Given the description of an element on the screen output the (x, y) to click on. 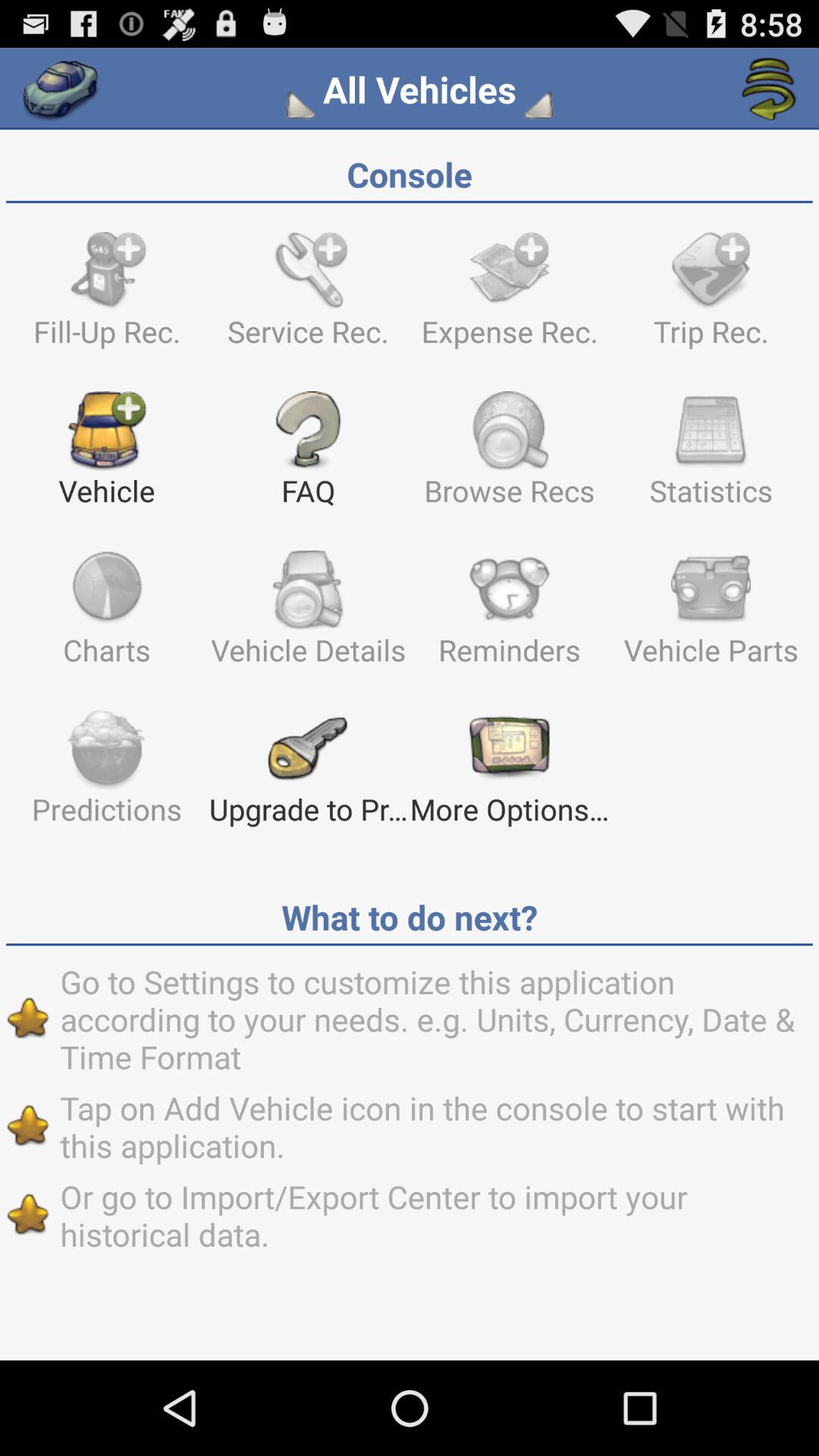
press the app on the right (710, 614)
